Given the description of an element on the screen output the (x, y) to click on. 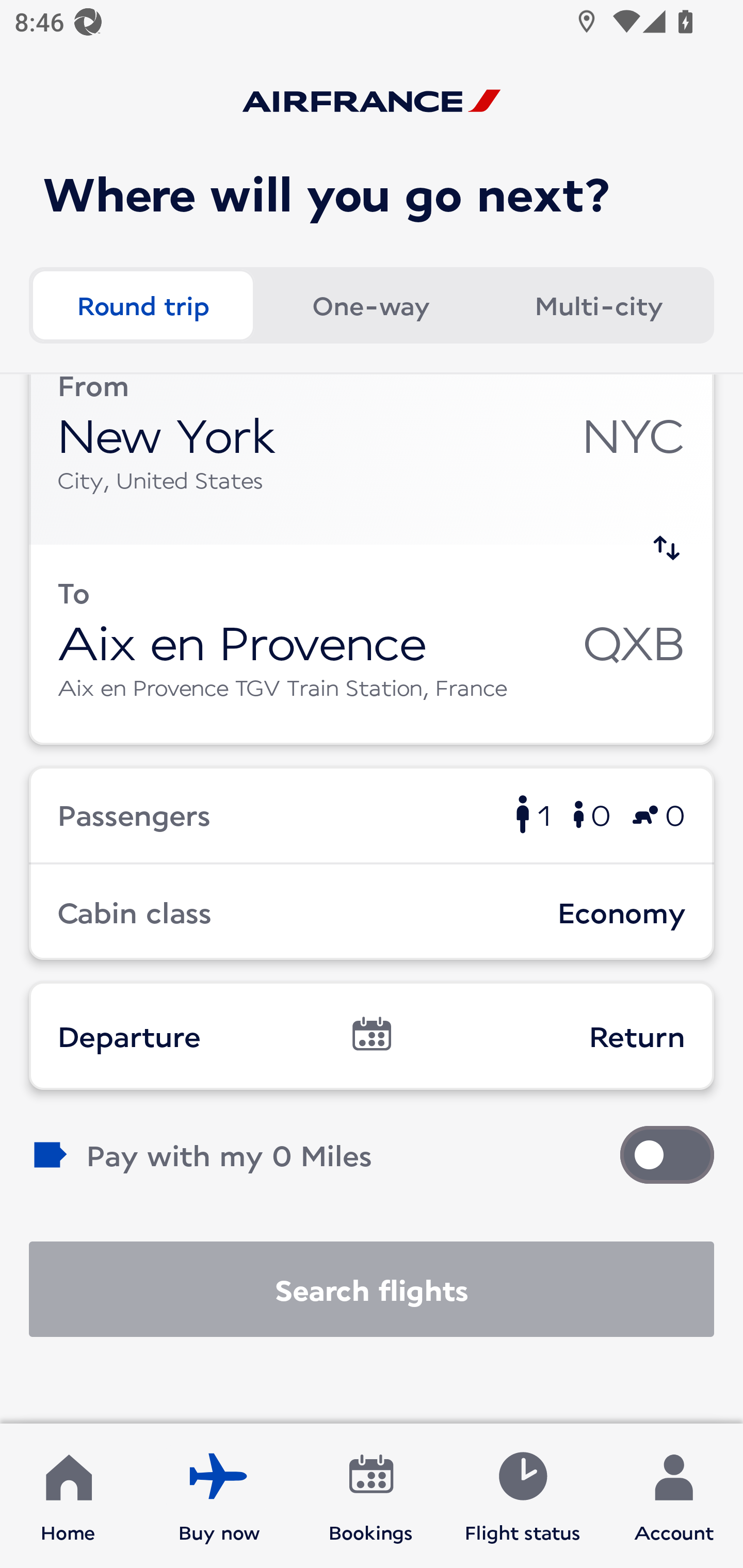
Round trip (142, 299)
One-way (370, 299)
Multi-city (598, 299)
From New York NYC City, United States (371, 459)
Passengers 1 0 0 (371, 814)
Cabin class Economy (371, 911)
Departure Return (371, 1035)
Search flights (371, 1289)
Home (68, 1495)
Bookings (370, 1495)
Flight status (522, 1495)
Account (674, 1495)
